Given the description of an element on the screen output the (x, y) to click on. 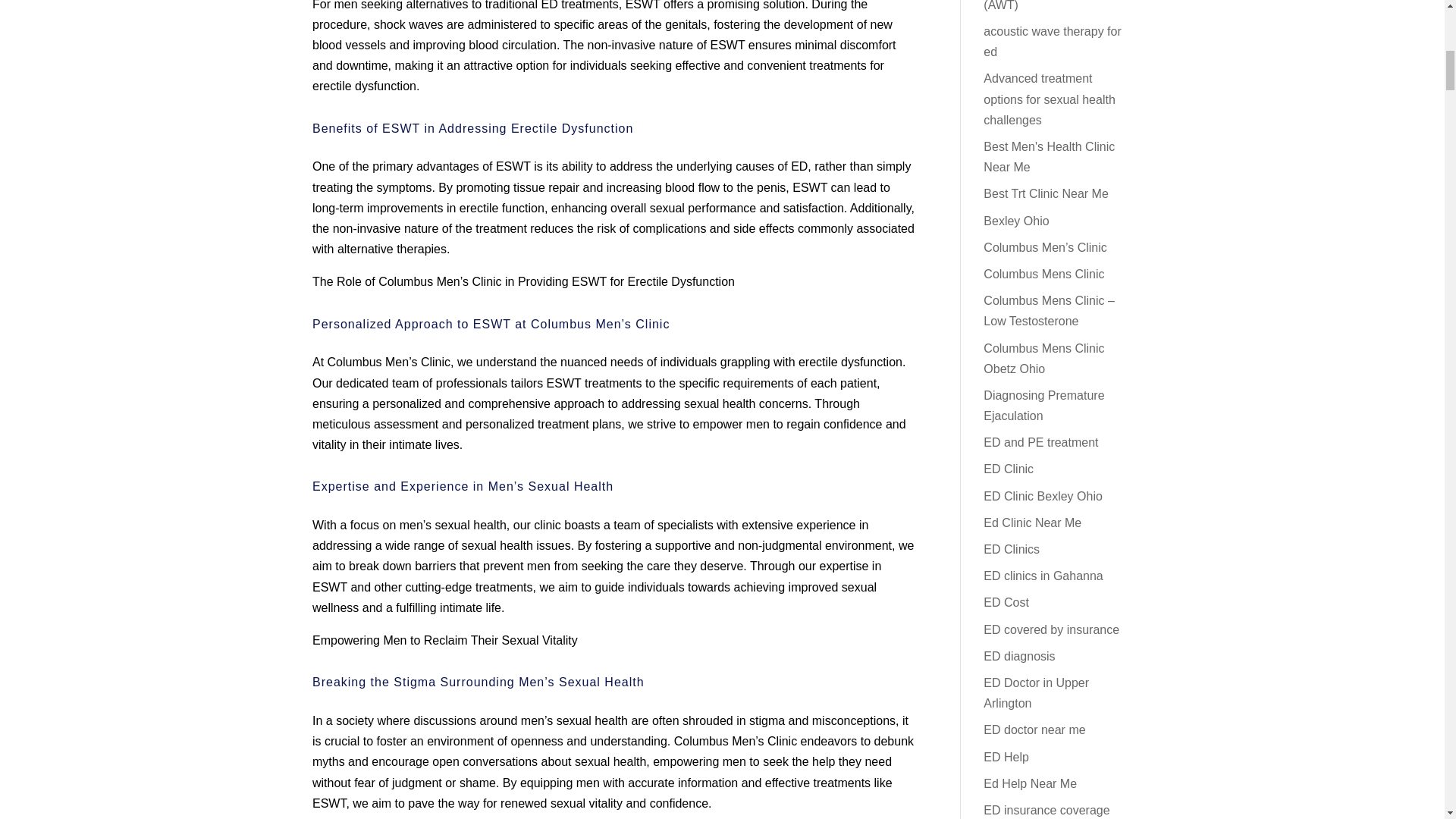
Bexley Ohio (1016, 220)
Best Men's Health Clinic Near Me (1049, 156)
acoustic wave therapy for ed (1052, 41)
Diagnosing Premature Ejaculation (1043, 405)
Advanced treatment options for sexual health challenges (1049, 99)
Columbus Mens Clinic Obetz Ohio (1043, 357)
Ed Clinic Near Me (1032, 522)
ED Clinic (1008, 468)
ED Clinics (1011, 549)
Best Trt Clinic Near Me (1046, 193)
